Given the description of an element on the screen output the (x, y) to click on. 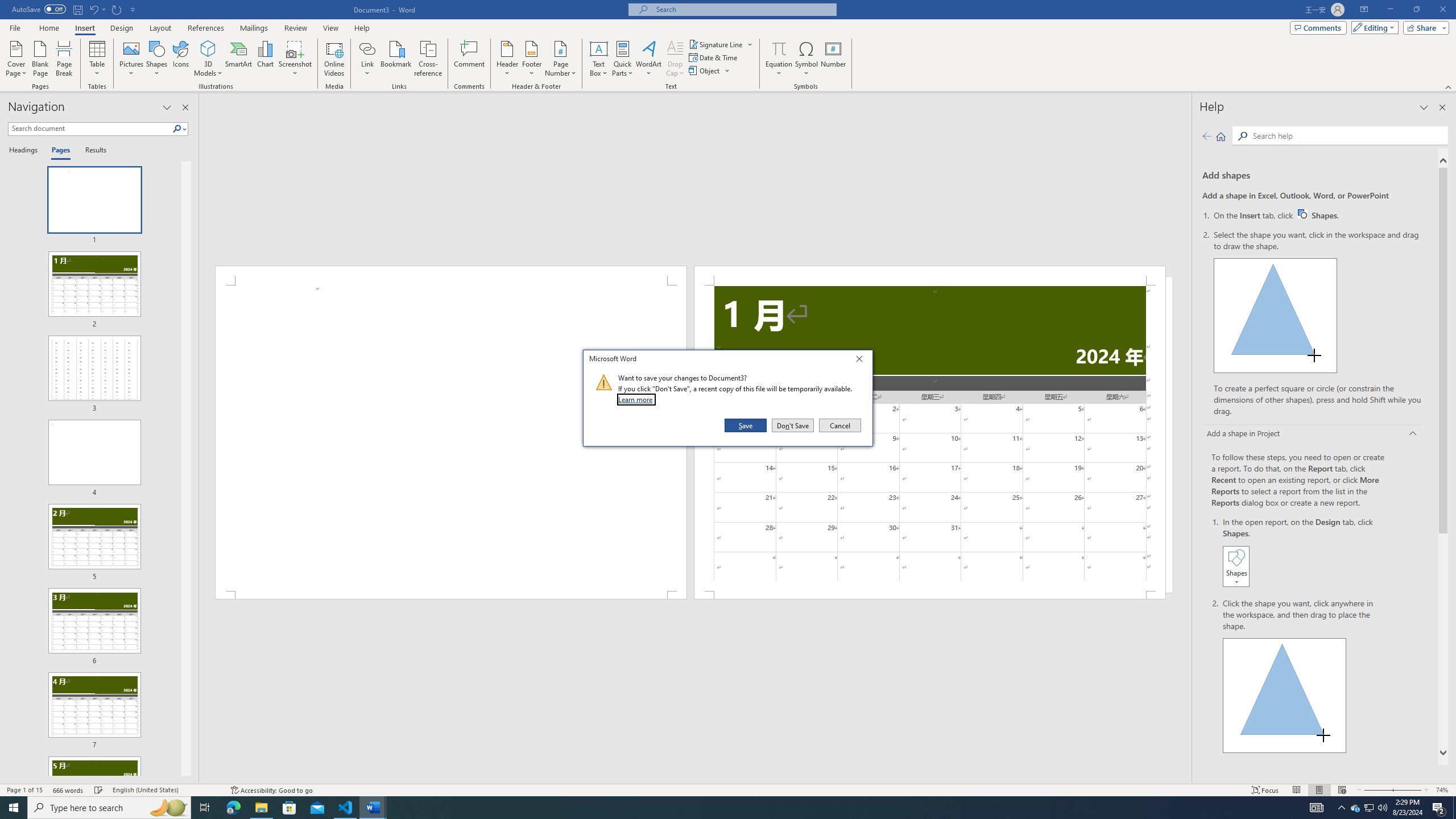
Insert Shapes button (1236, 566)
Drawing a shape (1284, 695)
Page Number (560, 58)
Language English (United States) (165, 790)
Class: NetUIScrollBar (695, 778)
Search highlights icon opens search home window (167, 807)
Text Box (598, 58)
Header (507, 58)
